Given the description of an element on the screen output the (x, y) to click on. 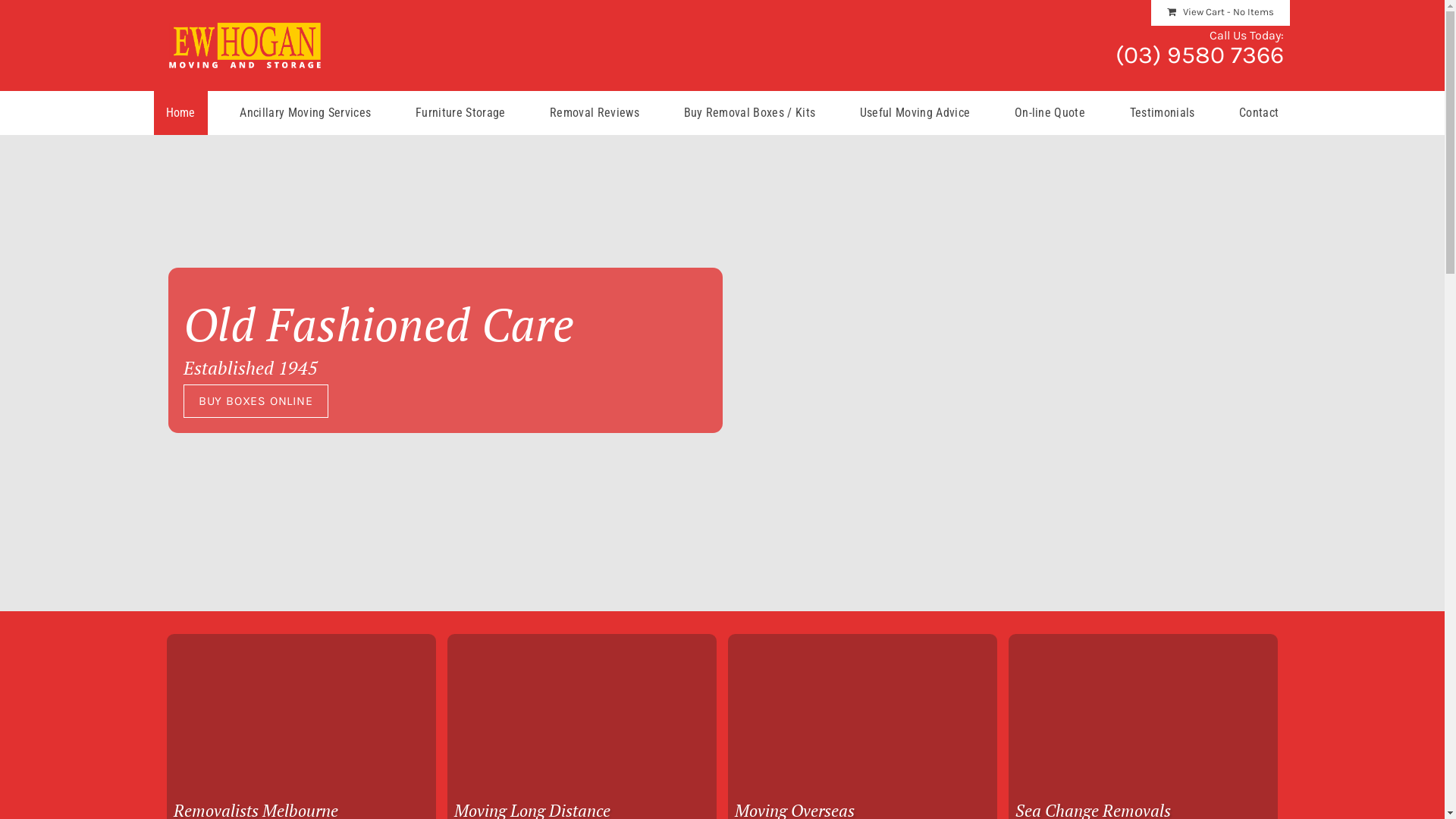
BUY BOXES ONLINE Element type: text (255, 400)
Ancillary Moving Services Element type: text (304, 112)
Useful Moving Advice Element type: text (914, 112)
View Cart - No Items Element type: text (1220, 12)
Removal Reviews Element type: text (594, 112)
On-line Quote Element type: text (1049, 112)
Buy Removal Boxes / Kits Element type: text (749, 112)
Contact Element type: text (1258, 112)
Furniture Storage Element type: text (460, 112)
Testimonials Element type: text (1162, 112)
Home Element type: text (180, 112)
